Given the description of an element on the screen output the (x, y) to click on. 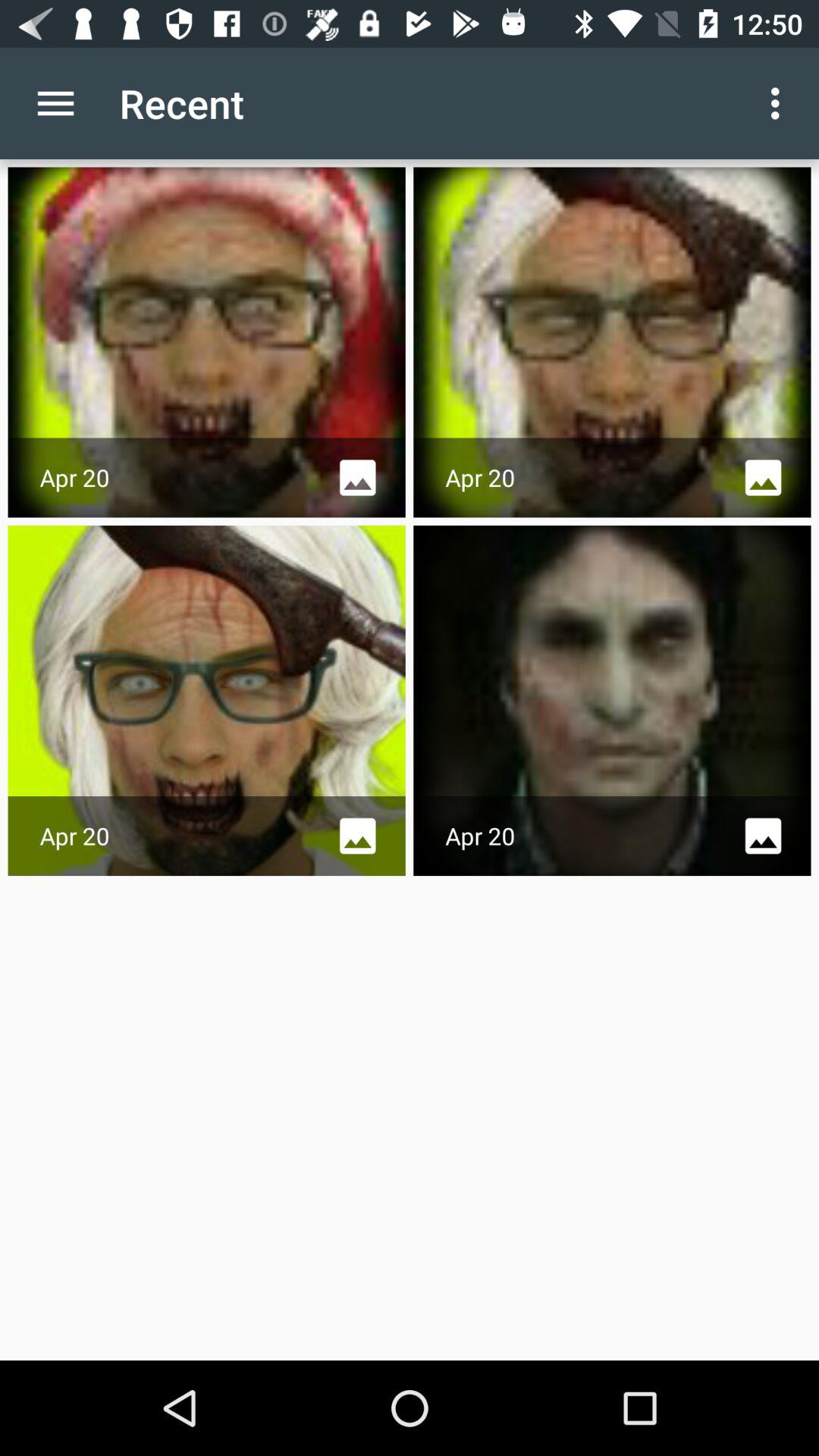
tap the icon to the left of recent item (55, 103)
